Given the description of an element on the screen output the (x, y) to click on. 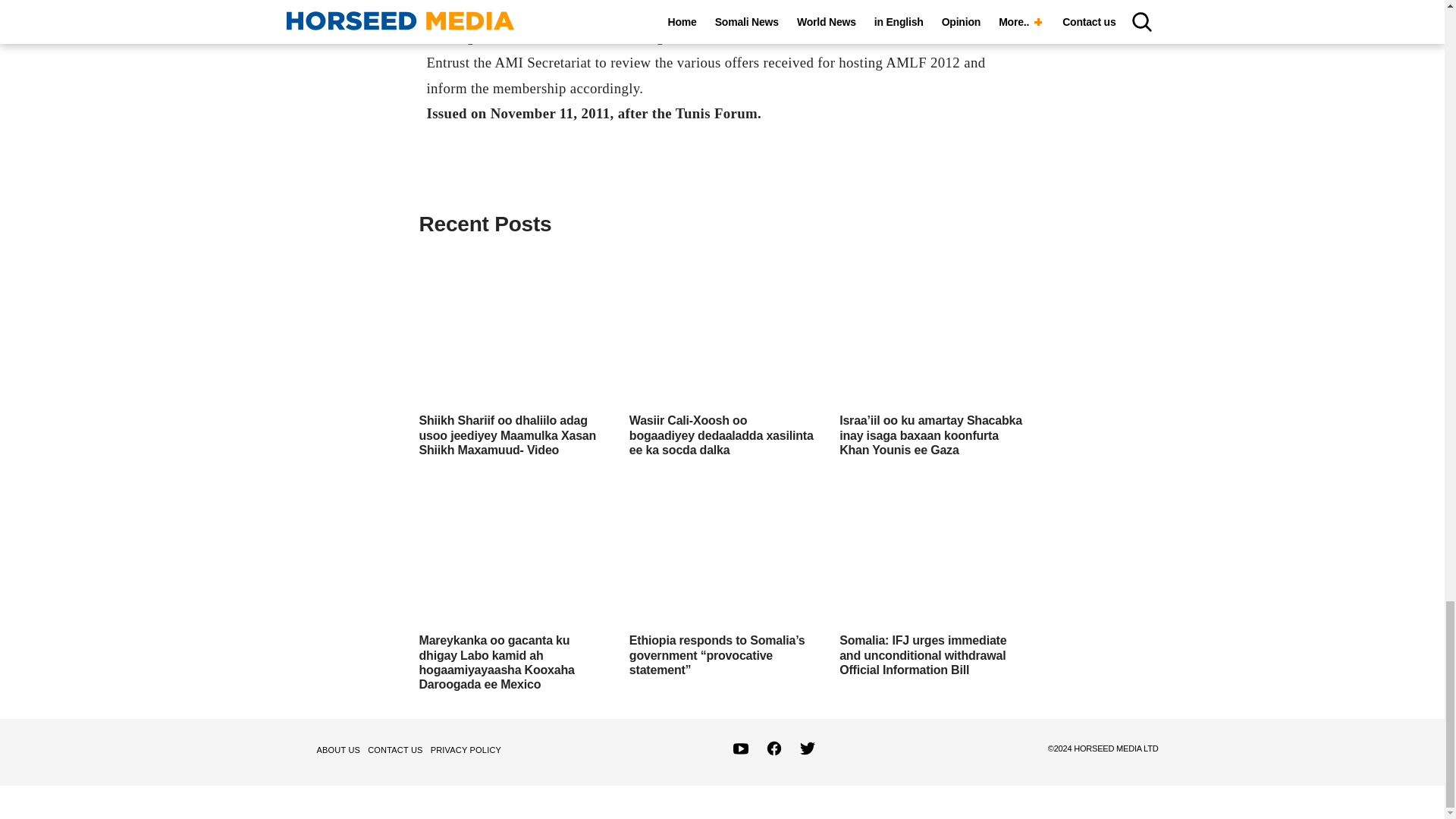
ABOUT US (341, 749)
